Given the description of an element on the screen output the (x, y) to click on. 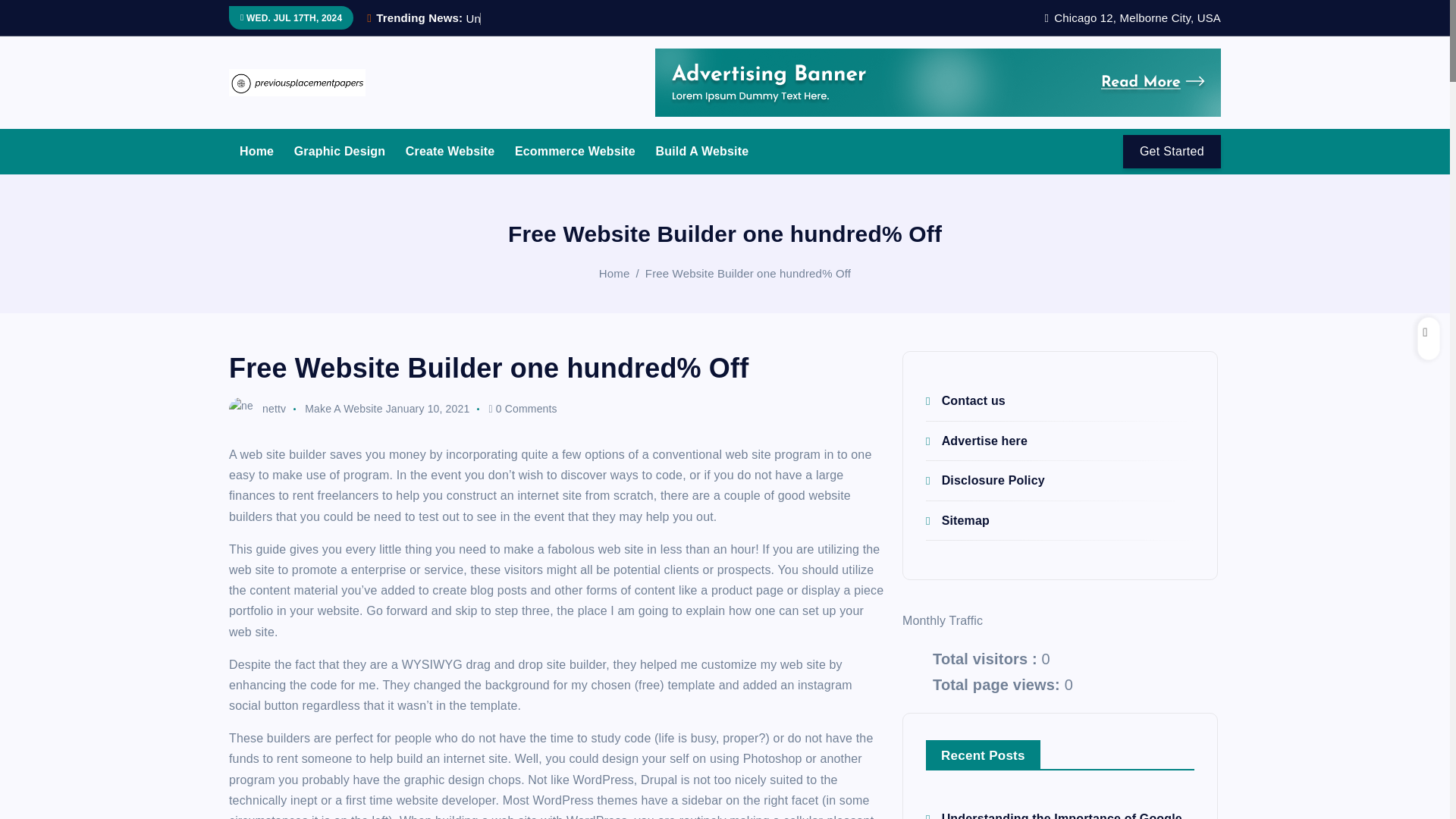
Graphic Design (339, 151)
nettv (256, 408)
Build A Website (702, 151)
Ecommerce Website (575, 151)
Home (256, 151)
Make A Website (342, 408)
Create Website (449, 151)
Build A Website (702, 151)
Home (256, 151)
Ecommerce Website (575, 151)
Home (614, 273)
Graphic Design (339, 151)
Get Started (1171, 151)
Create Website (449, 151)
